Given the description of an element on the screen output the (x, y) to click on. 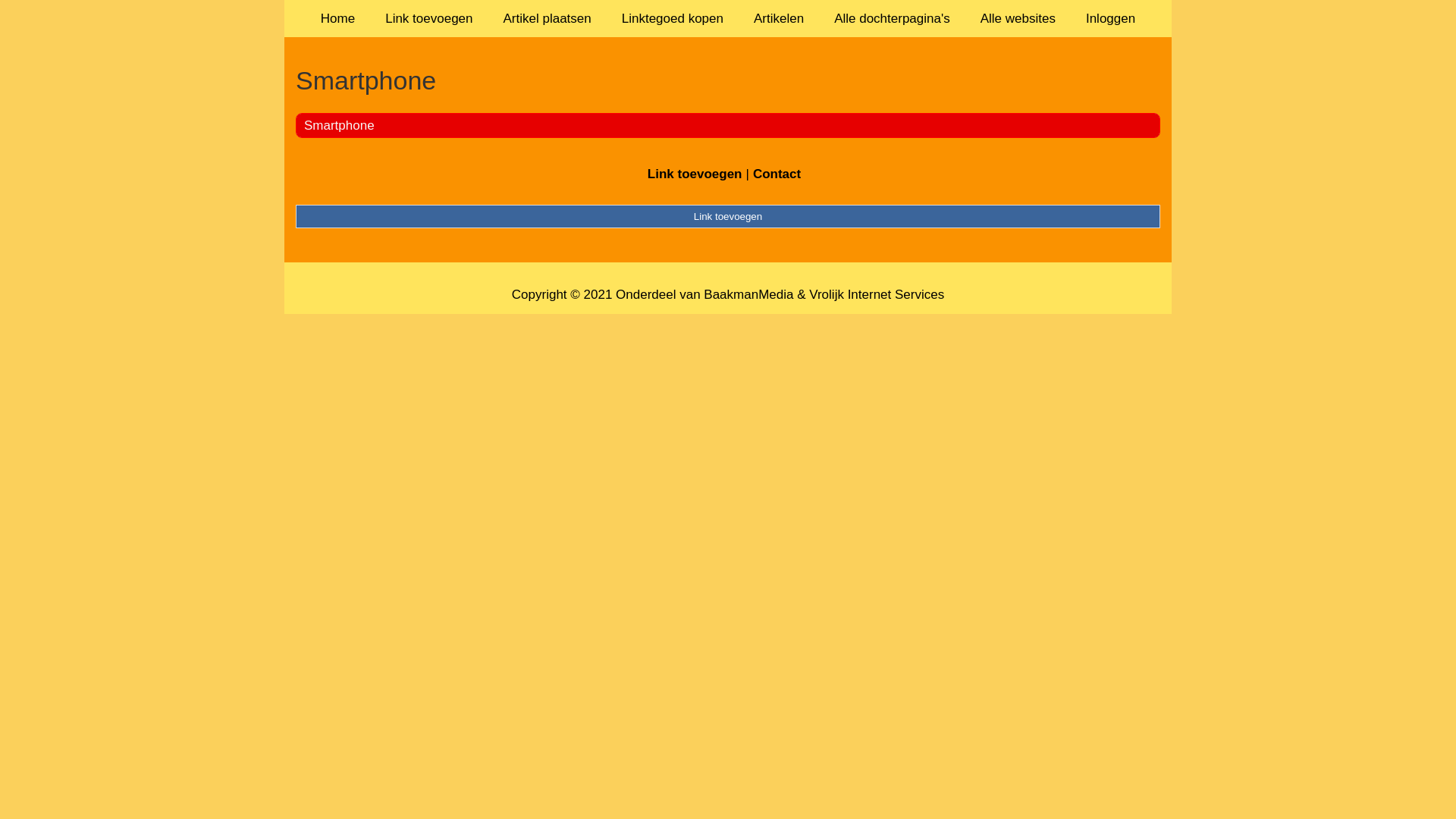
Smartphone Element type: text (727, 80)
Link toevoegen Element type: text (428, 18)
Link toevoegen Element type: text (727, 215)
Vrolijk Internet Services Element type: text (876, 294)
Home Element type: text (337, 18)
Alle dochterpagina's Element type: text (892, 18)
Linktegoed kopen Element type: text (672, 18)
Smartphone Element type: text (339, 125)
Link toevoegen Element type: text (694, 173)
Artikel plaatsen Element type: text (547, 18)
Contact Element type: text (776, 173)
BaakmanMedia Element type: text (748, 294)
Alle websites Element type: text (1017, 18)
Inloggen Element type: text (1110, 18)
Artikelen Element type: text (778, 18)
